Given the description of an element on the screen output the (x, y) to click on. 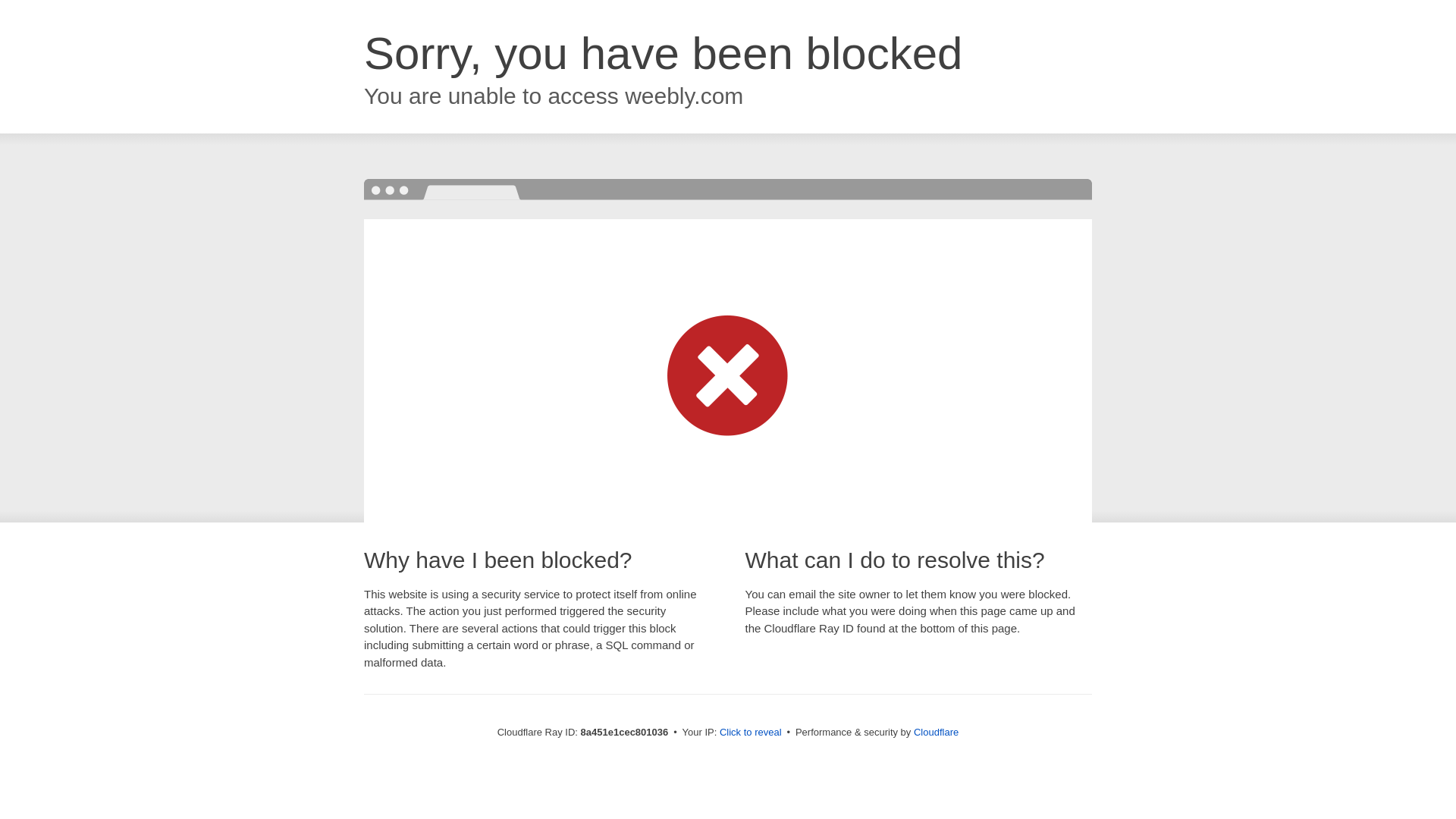
Click to reveal (750, 732)
Cloudflare (936, 731)
